Given the description of an element on the screen output the (x, y) to click on. 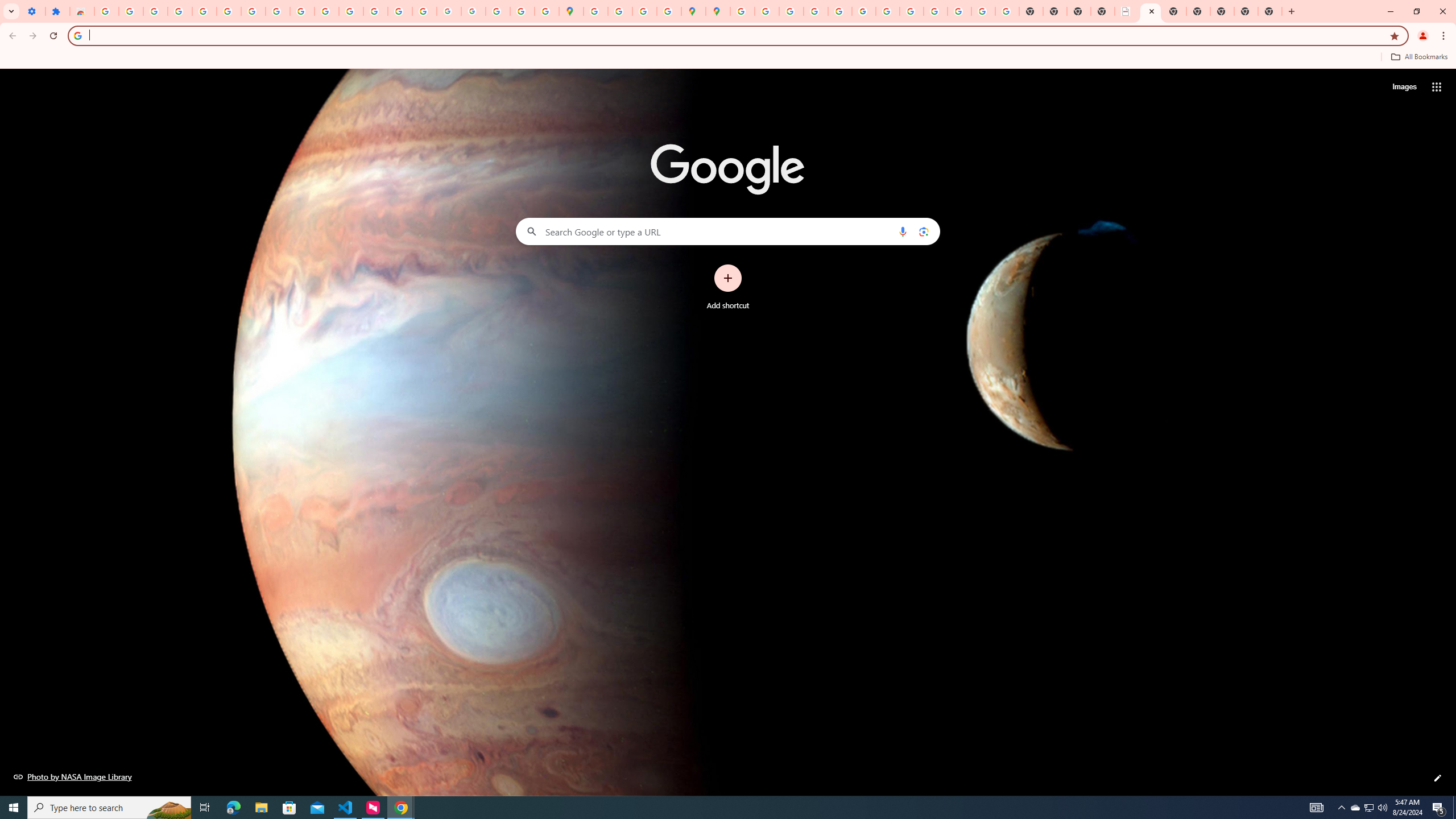
Bookmarks (728, 58)
Extensions (57, 11)
Delete photos & videos - Computer - Google Photos Help (155, 11)
Safety in Our Products - Google Safety Center (668, 11)
YouTube (302, 11)
Browse Chrome as a guest - Computer - Google Chrome Help (910, 11)
Search by image (922, 230)
